Given the description of an element on the screen output the (x, y) to click on. 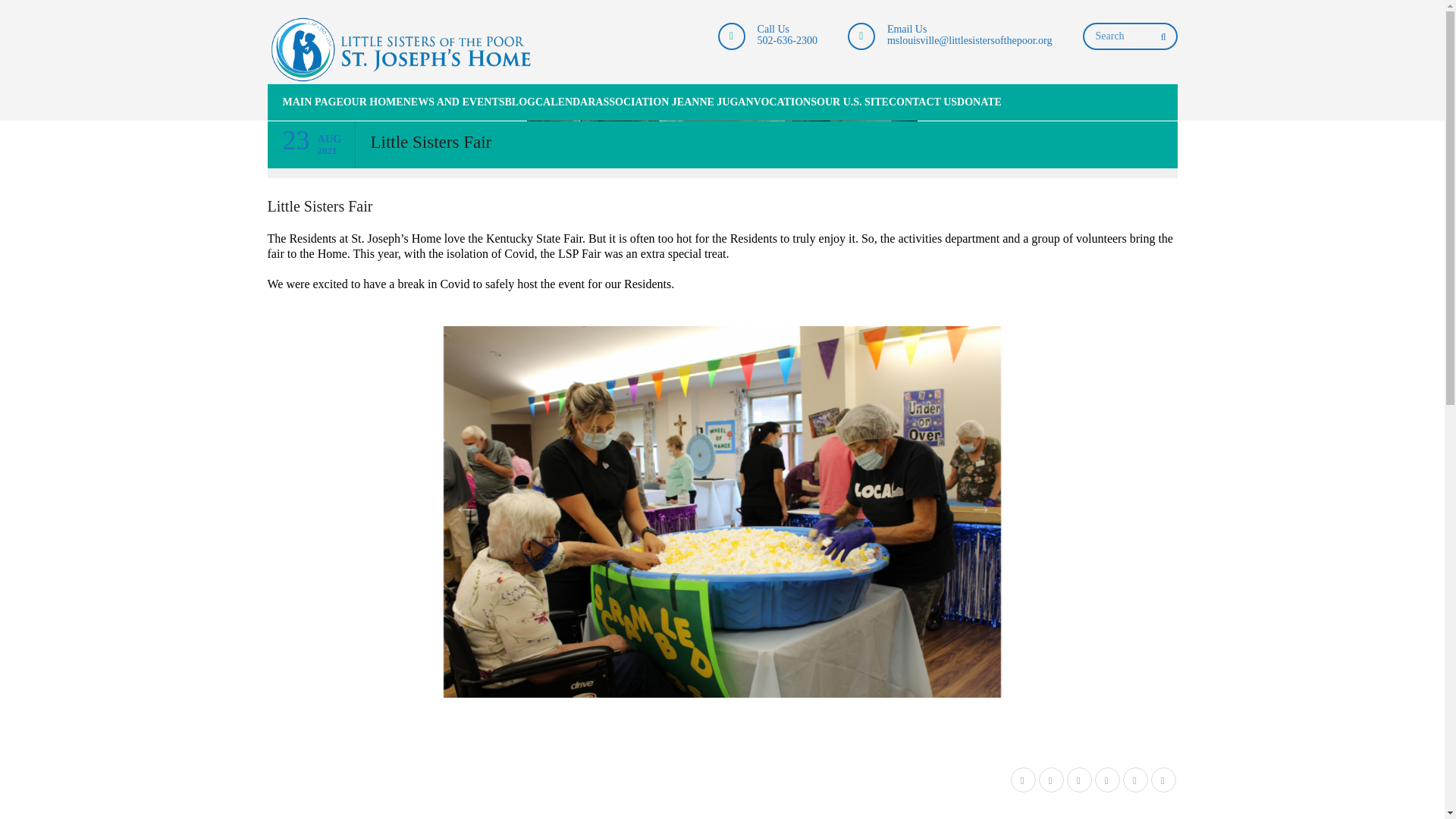
VOCATIONS (785, 102)
Little Sisters of the Poor Louisville (401, 49)
CONTACT US (922, 102)
MAIN PAGE (304, 102)
CALENDAR (565, 102)
NEWS AND EVENTS (454, 102)
DONATE (978, 102)
OUR HOME (373, 102)
OUR U.S. SITE (852, 102)
ASSOCIATION JEANNE JUGAN (673, 102)
